Given the description of an element on the screen output the (x, y) to click on. 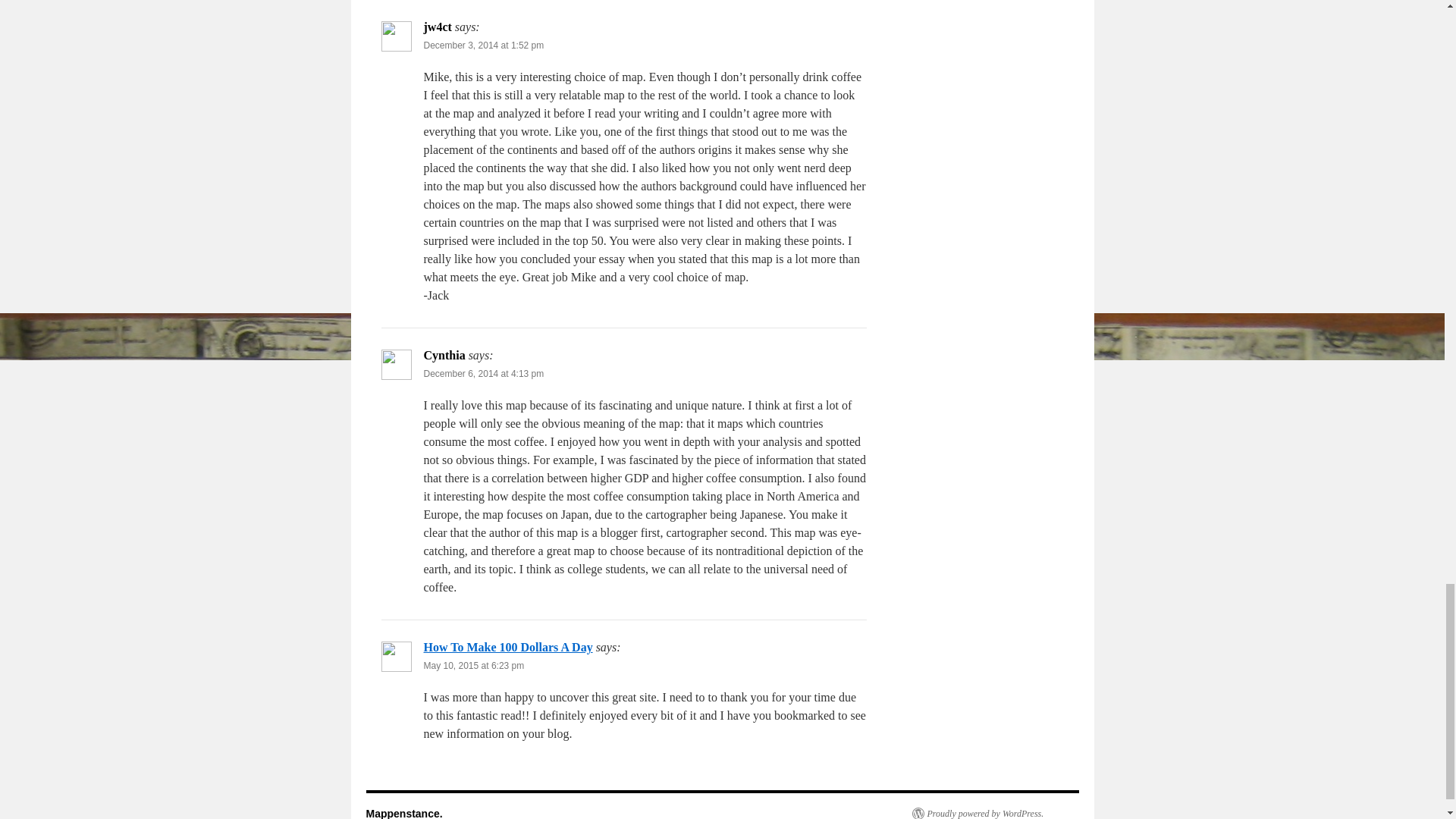
December 3, 2014 at 1:52 pm (483, 45)
May 10, 2015 at 6:23 pm (473, 665)
December 6, 2014 at 4:13 pm (483, 373)
How To Make 100 Dollars A Day (507, 646)
